Given the description of an element on the screen output the (x, y) to click on. 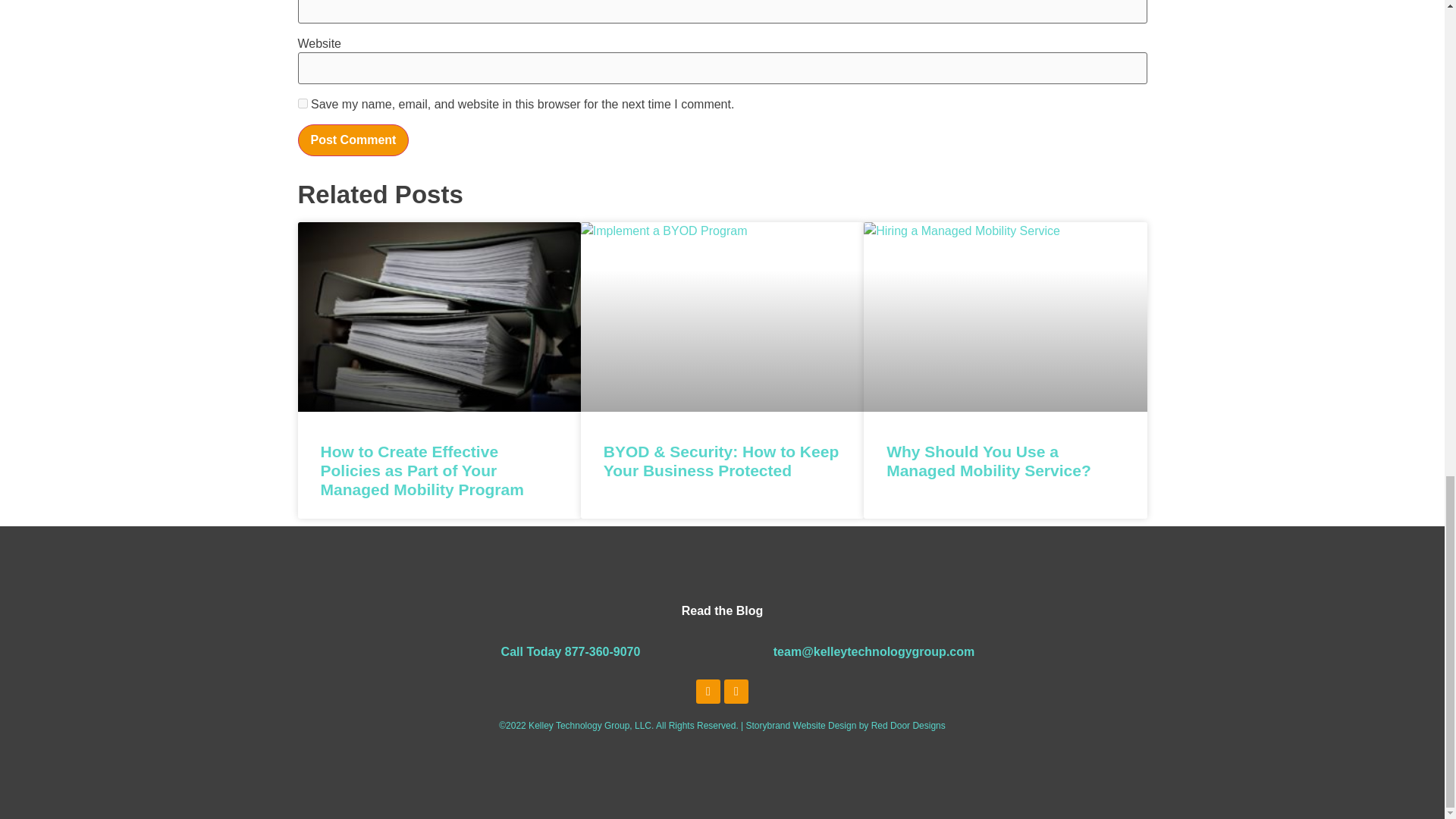
yes (302, 103)
Post Comment (353, 140)
Why Should You Use a Managed Mobility Service? (988, 461)
Storybrand Website Design by Red Door Designs (844, 725)
Post Comment (353, 140)
Read the Blog (721, 610)
